Given the description of an element on the screen output the (x, y) to click on. 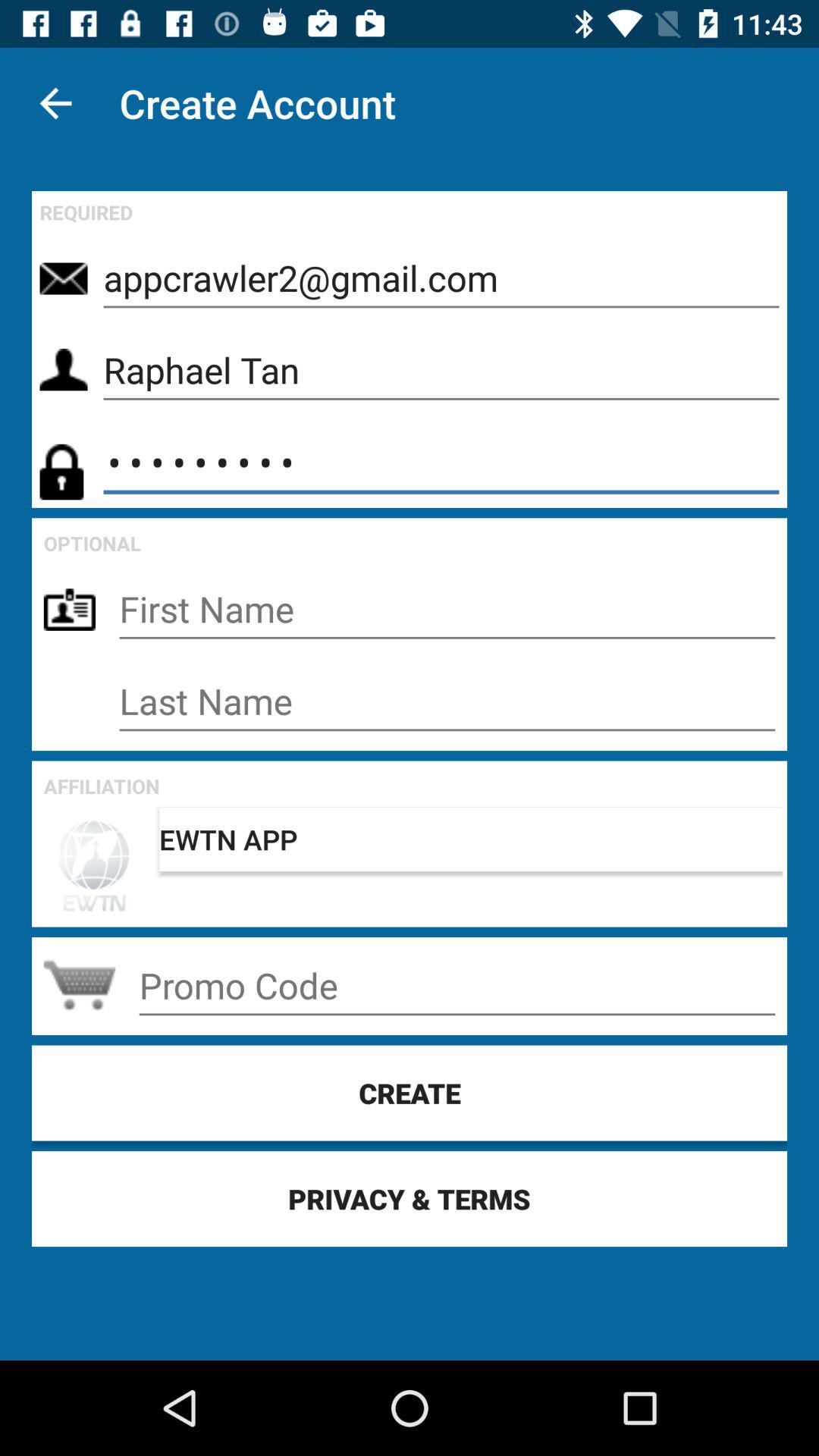
press the crowd3116 icon (441, 462)
